Given the description of an element on the screen output the (x, y) to click on. 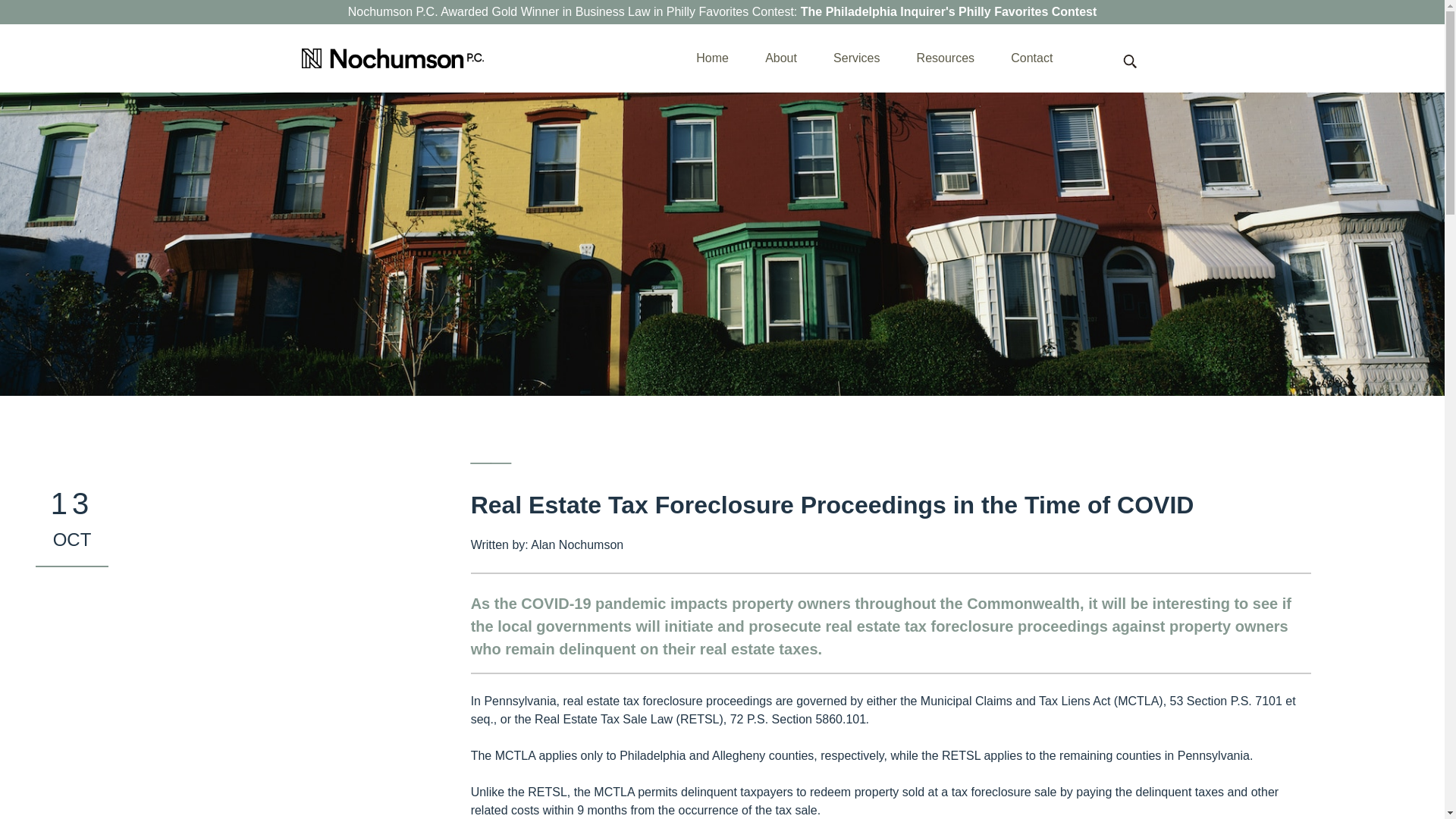
Resources (945, 57)
Services (855, 57)
Search (22, 9)
Contact (1031, 57)
